Given the description of an element on the screen output the (x, y) to click on. 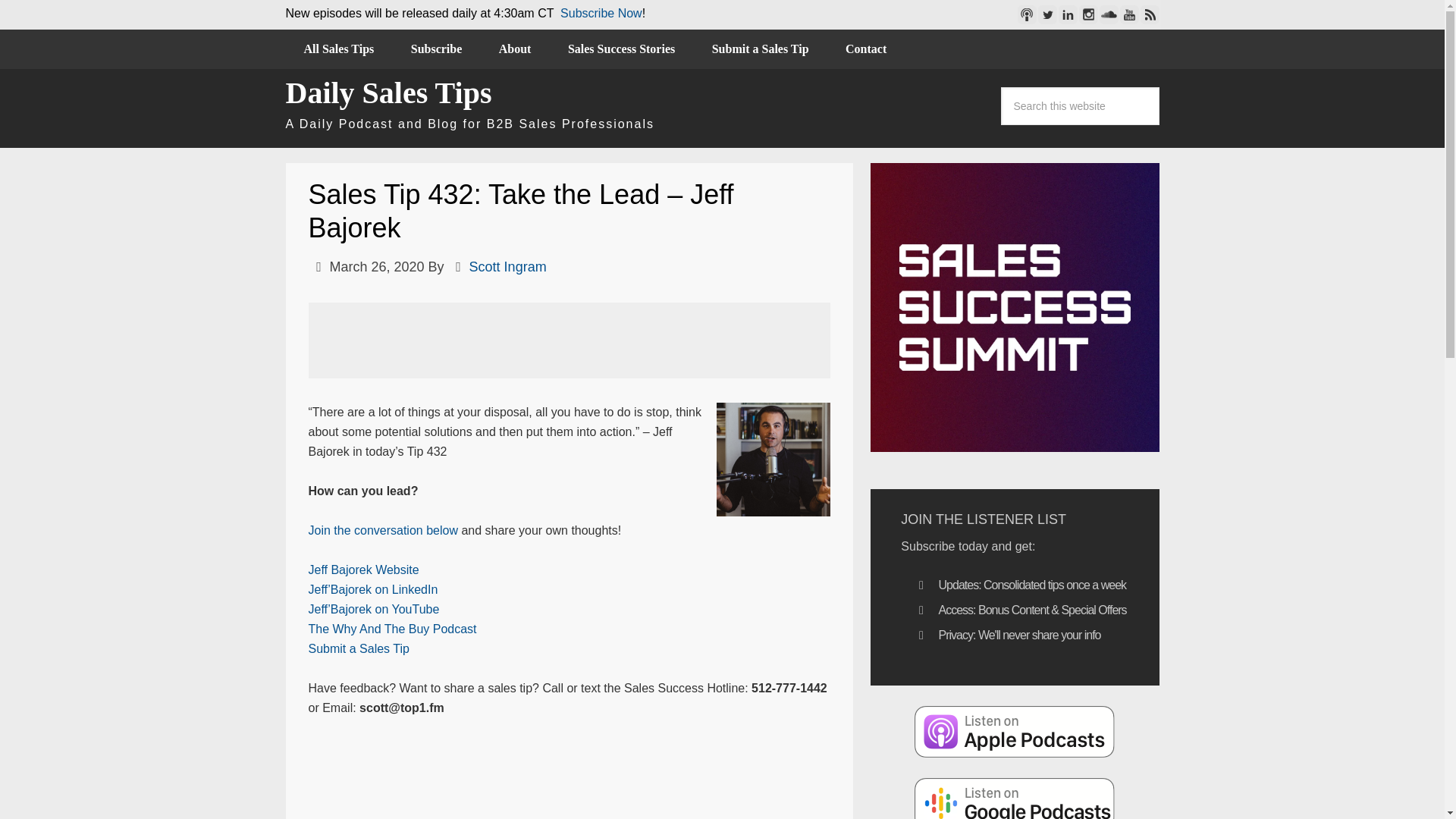
The Why And The Buy Podcast (391, 628)
Scott Ingram (507, 266)
Contact (865, 48)
Daily Sales Tips (388, 92)
About (515, 48)
Subscribe (436, 48)
Sales Success Stories (621, 48)
Daily Sales Tips on Google Podcasts (1014, 797)
Daily Sales Tips on Apple Podcasts (1014, 730)
All Sales Tips (338, 48)
